Given the description of an element on the screen output the (x, y) to click on. 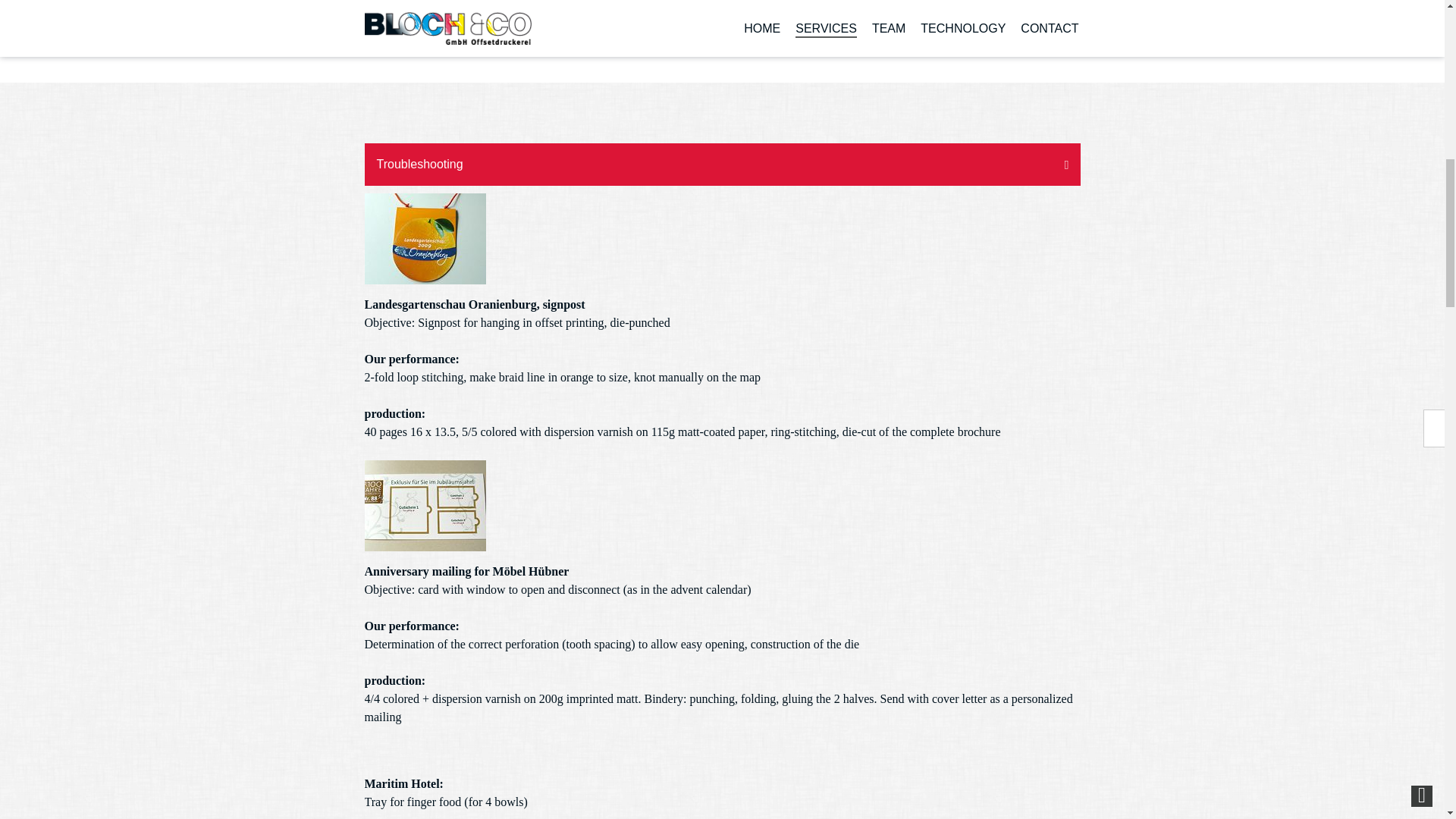
Troubleshooting (722, 164)
